Given the description of an element on the screen output the (x, y) to click on. 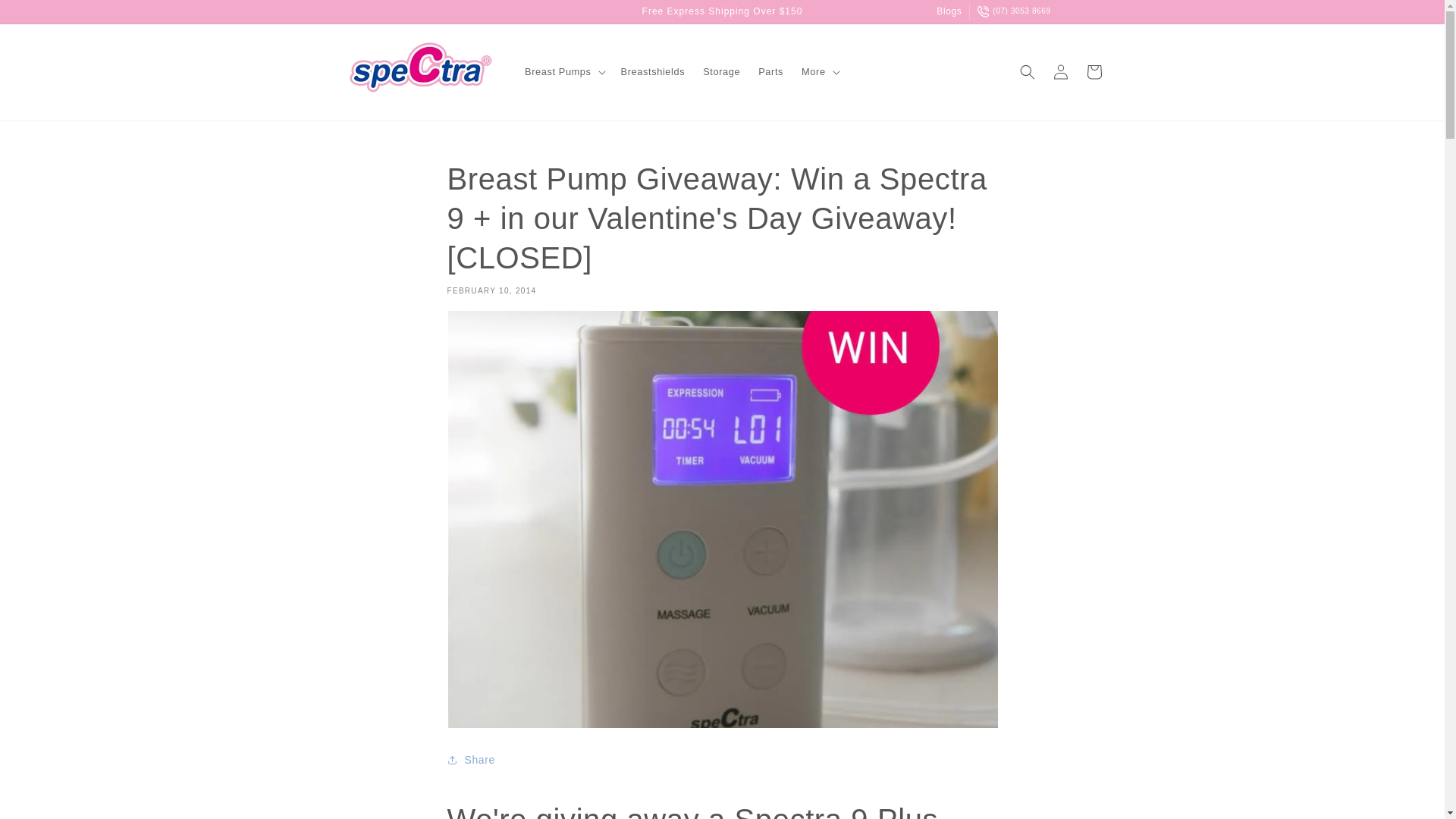
Blogs (952, 11)
Storage (721, 71)
Parts (770, 71)
Breast Pumps (557, 71)
Skip to content (45, 17)
Breastshields (652, 71)
More (813, 71)
